Given the description of an element on the screen output the (x, y) to click on. 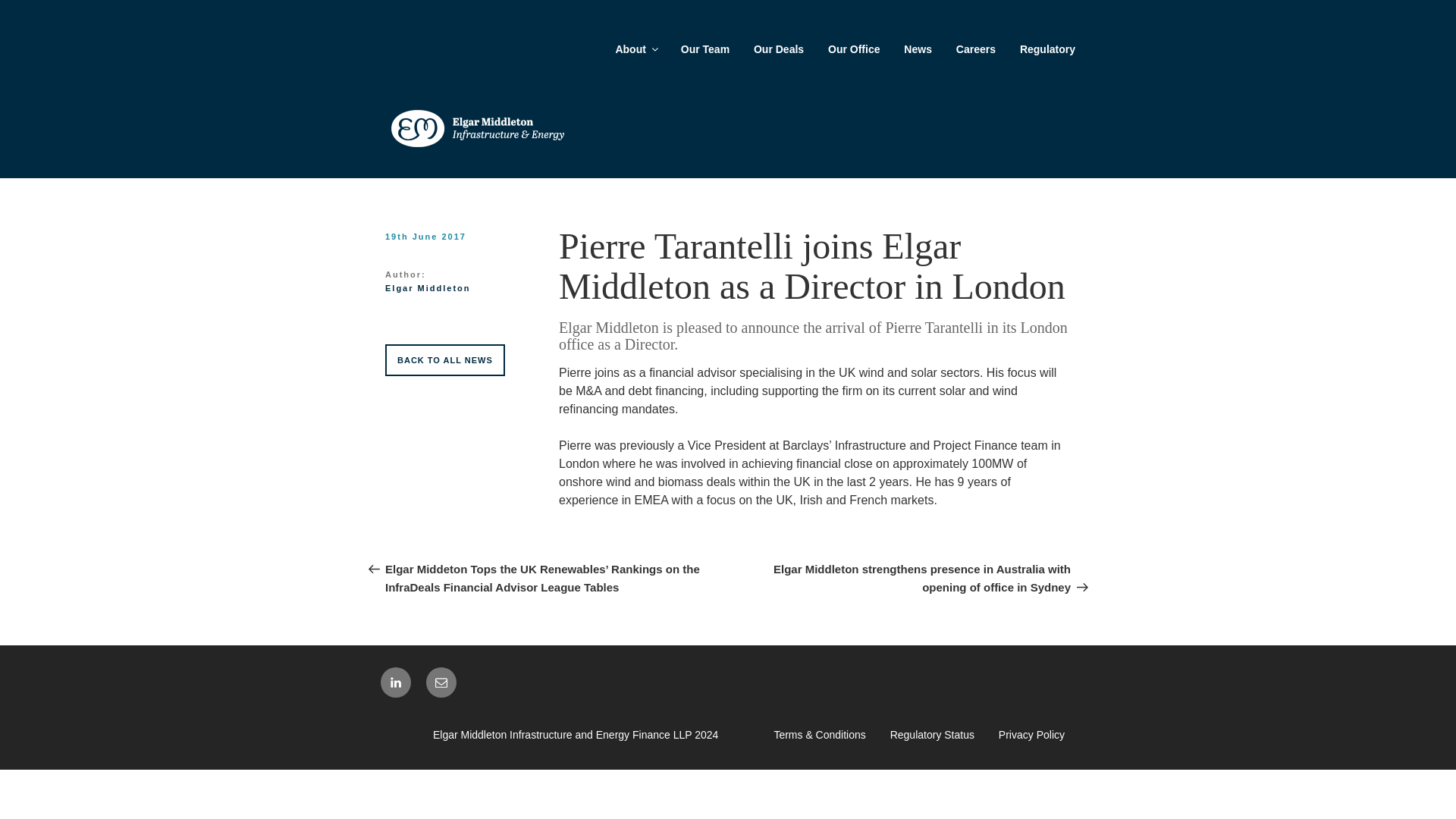
E-mail (441, 682)
BACK TO ALL NEWS (445, 359)
Careers (975, 49)
Our Office (852, 49)
Regulatory (1047, 49)
Linkedin (395, 682)
About (635, 49)
Privacy Policy (1031, 734)
Our Team (704, 49)
ELGAR MIDDLETON (481, 185)
Regulatory Status (931, 734)
News (917, 49)
Our Deals (777, 49)
